Given the description of an element on the screen output the (x, y) to click on. 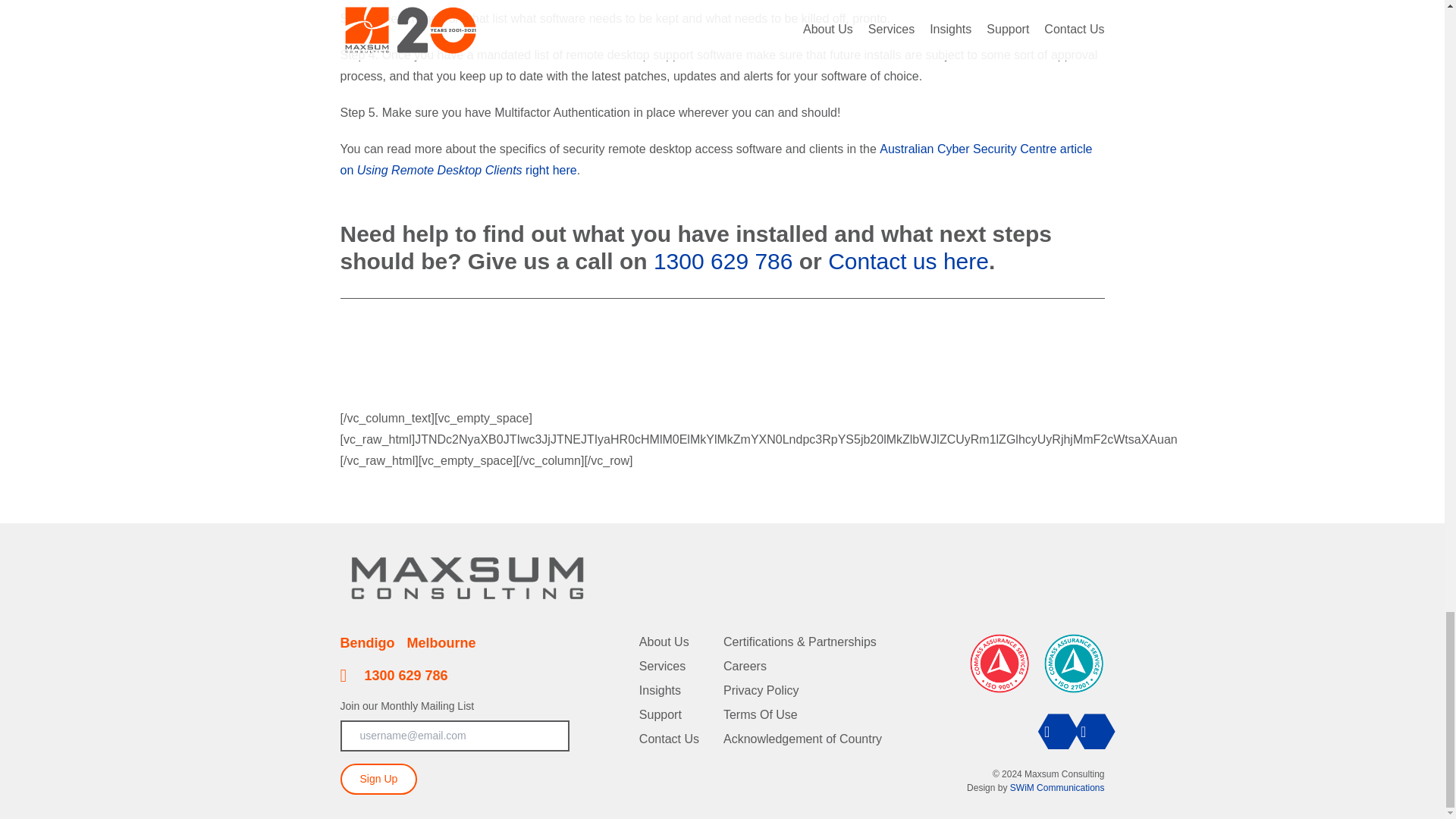
Sign Up (377, 778)
